Given the description of an element on the screen output the (x, y) to click on. 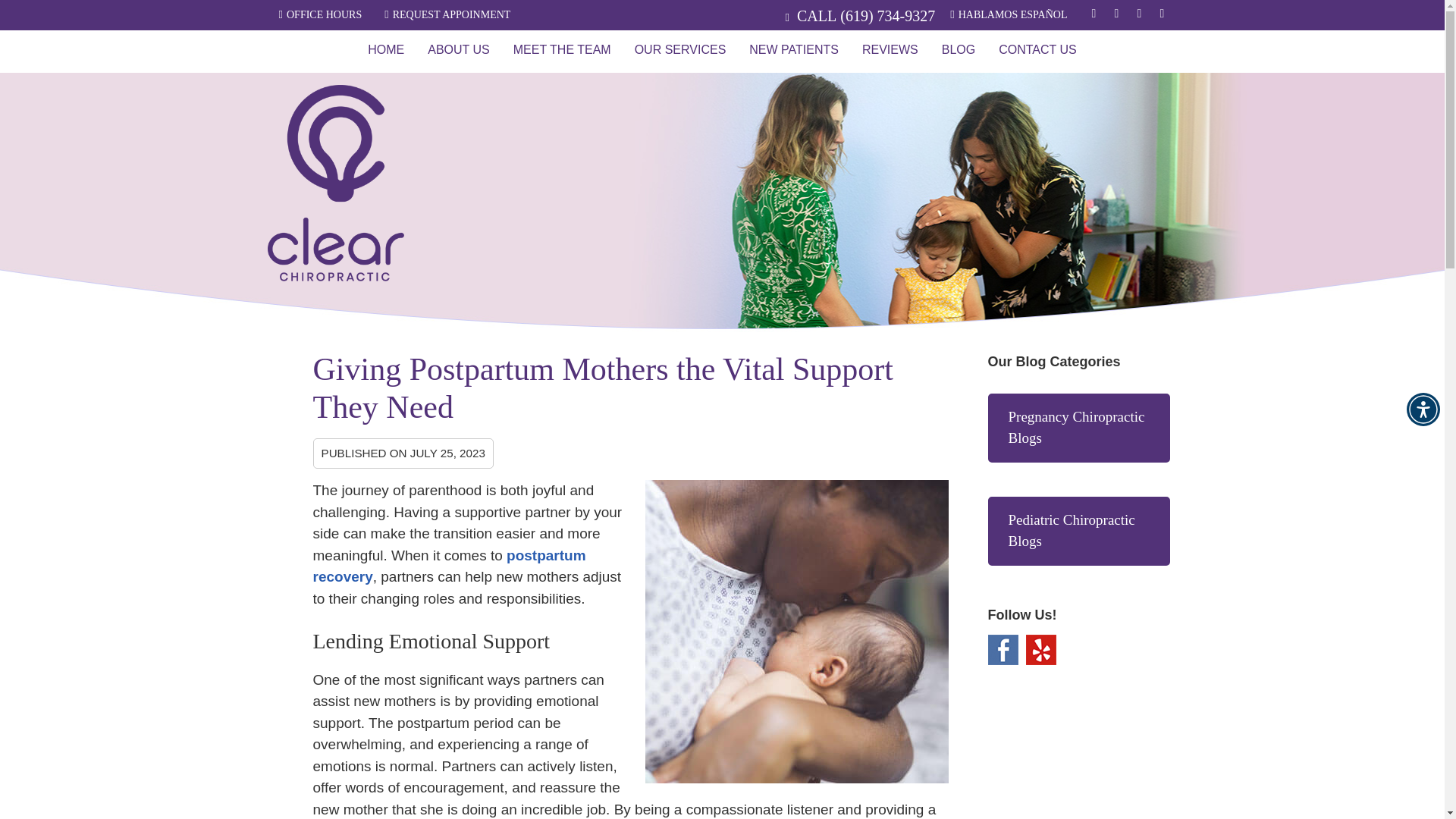
Welcome to Clear Chiropractic (334, 276)
REQUEST APPOINMENT (447, 14)
Clear Chiropractic (334, 276)
BLOG (958, 49)
Google Social Button (1093, 14)
Yelp Social Button (1161, 14)
ABOUT US (459, 49)
MEET THE TEAM (562, 49)
NEW PATIENTS (794, 49)
OFFICE HOURS (319, 14)
OUR SERVICES (680, 49)
CONTACT US (1037, 49)
HOME (386, 49)
Facebook Social Button (1115, 14)
postpartum recovery (449, 566)
